Given the description of an element on the screen output the (x, y) to click on. 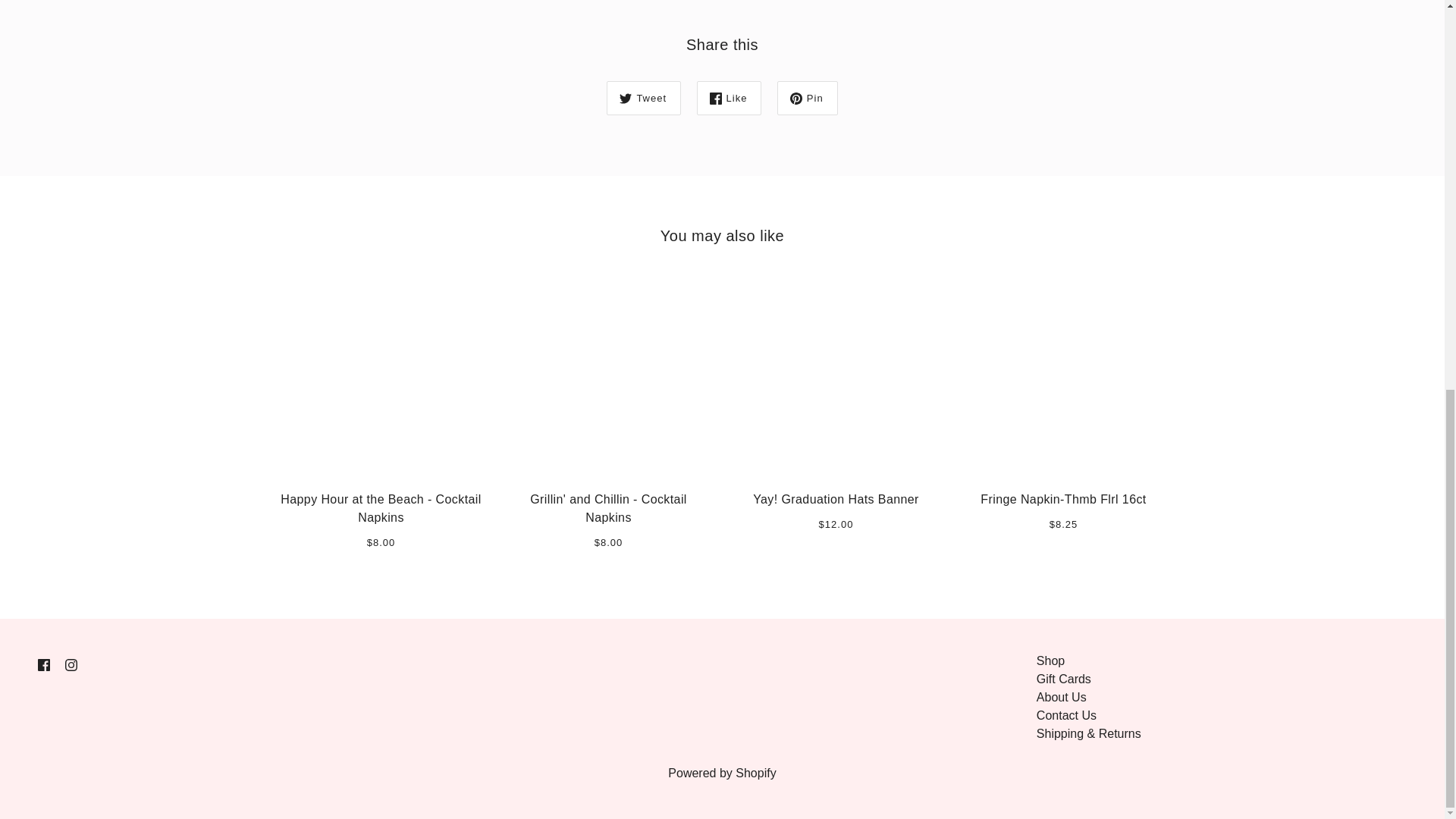
Shop (1050, 660)
About Us (1061, 697)
Contact Us (1066, 715)
Gift Cards (1063, 678)
